Given the description of an element on the screen output the (x, y) to click on. 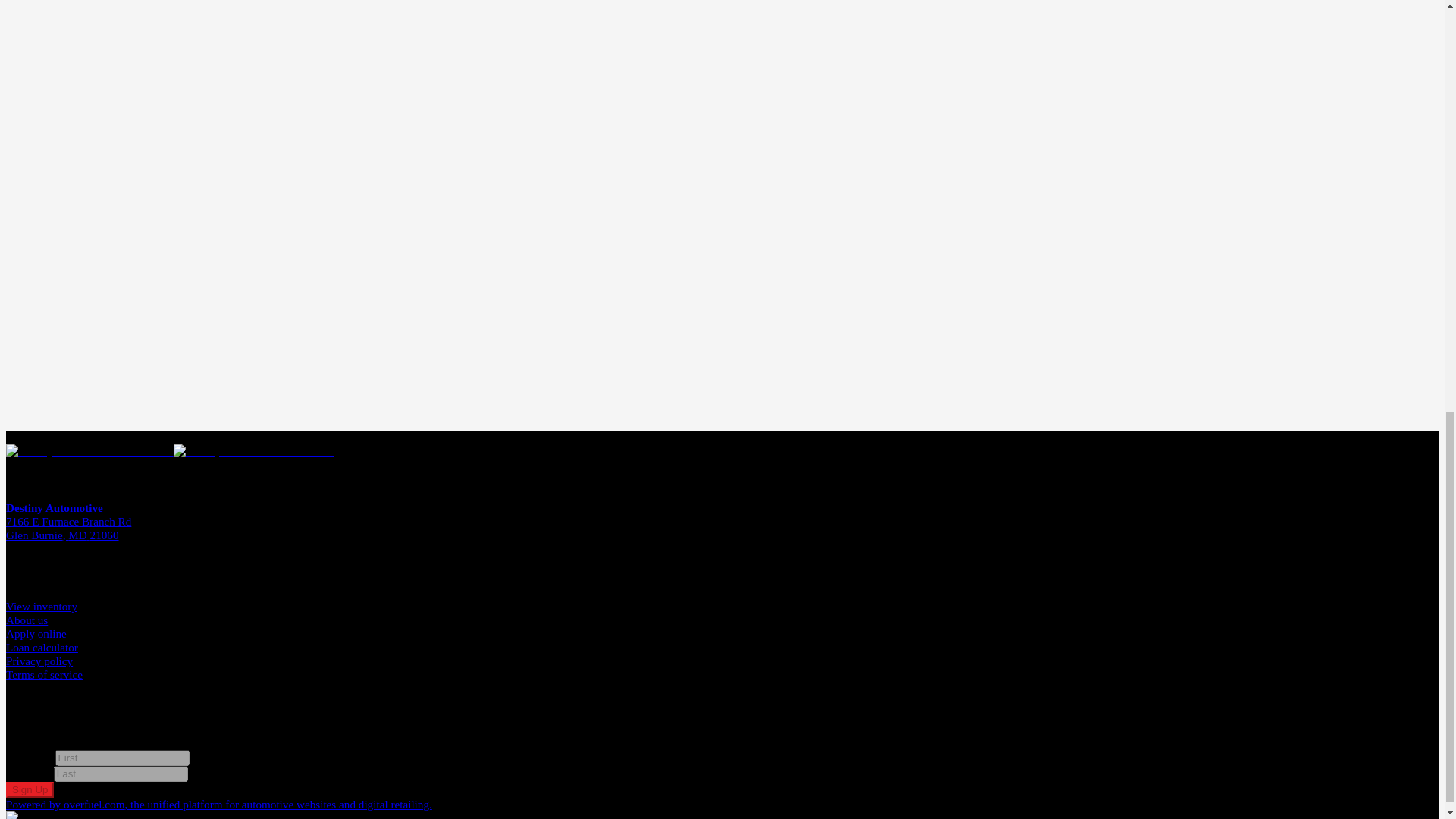
Terms of service (43, 674)
Loan calculator (41, 646)
About us (26, 619)
Privacy policy (38, 660)
View inventory (41, 605)
Sign Up (29, 789)
Apply online (35, 633)
